Given the description of an element on the screen output the (x, y) to click on. 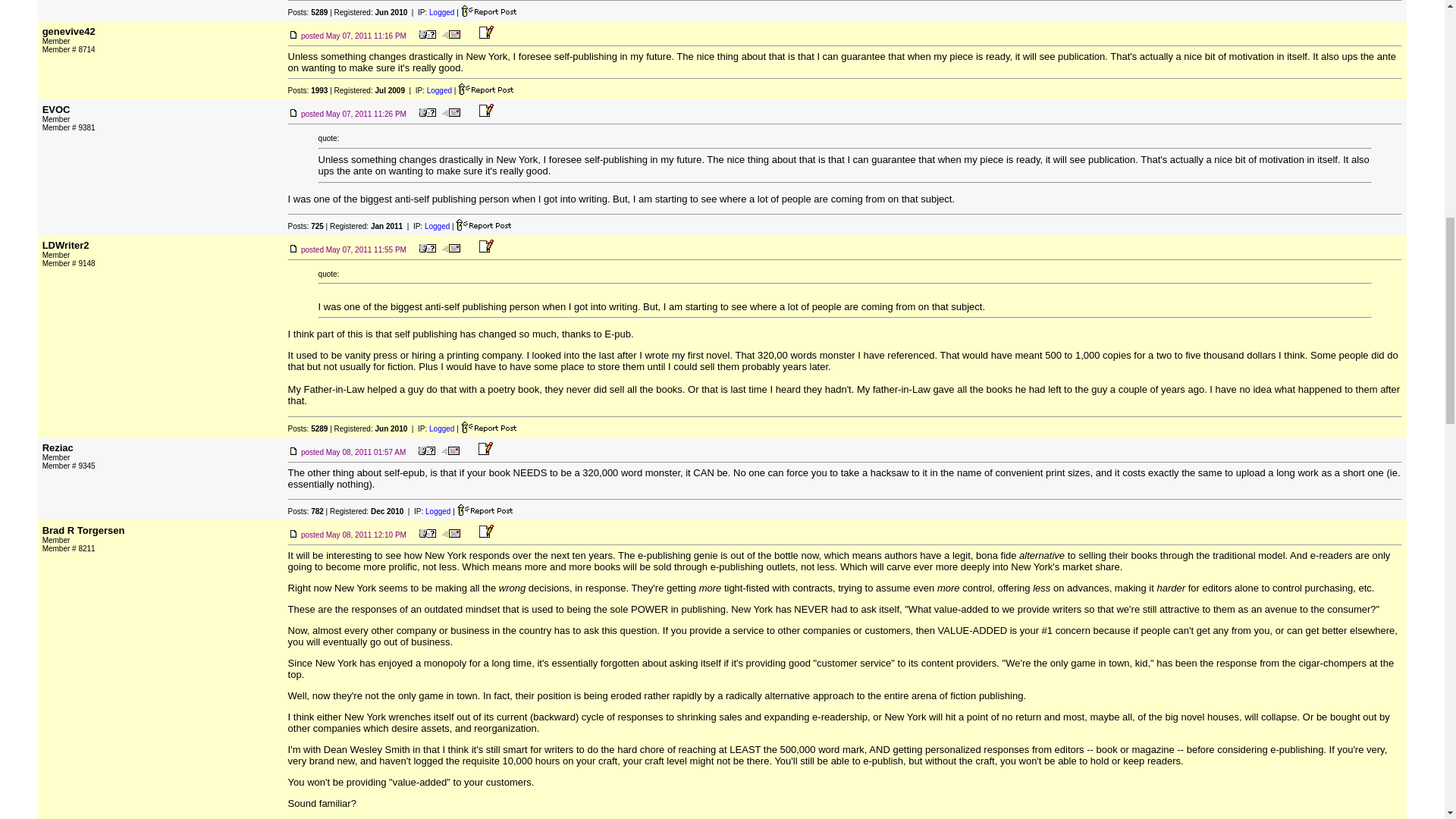
Report this post to a Moderator (485, 509)
Report this post to a Moderator (488, 427)
Report this post to a Moderator (488, 10)
Report this post to a Moderator (483, 224)
Report this post to a Moderator (485, 89)
